Given the description of an element on the screen output the (x, y) to click on. 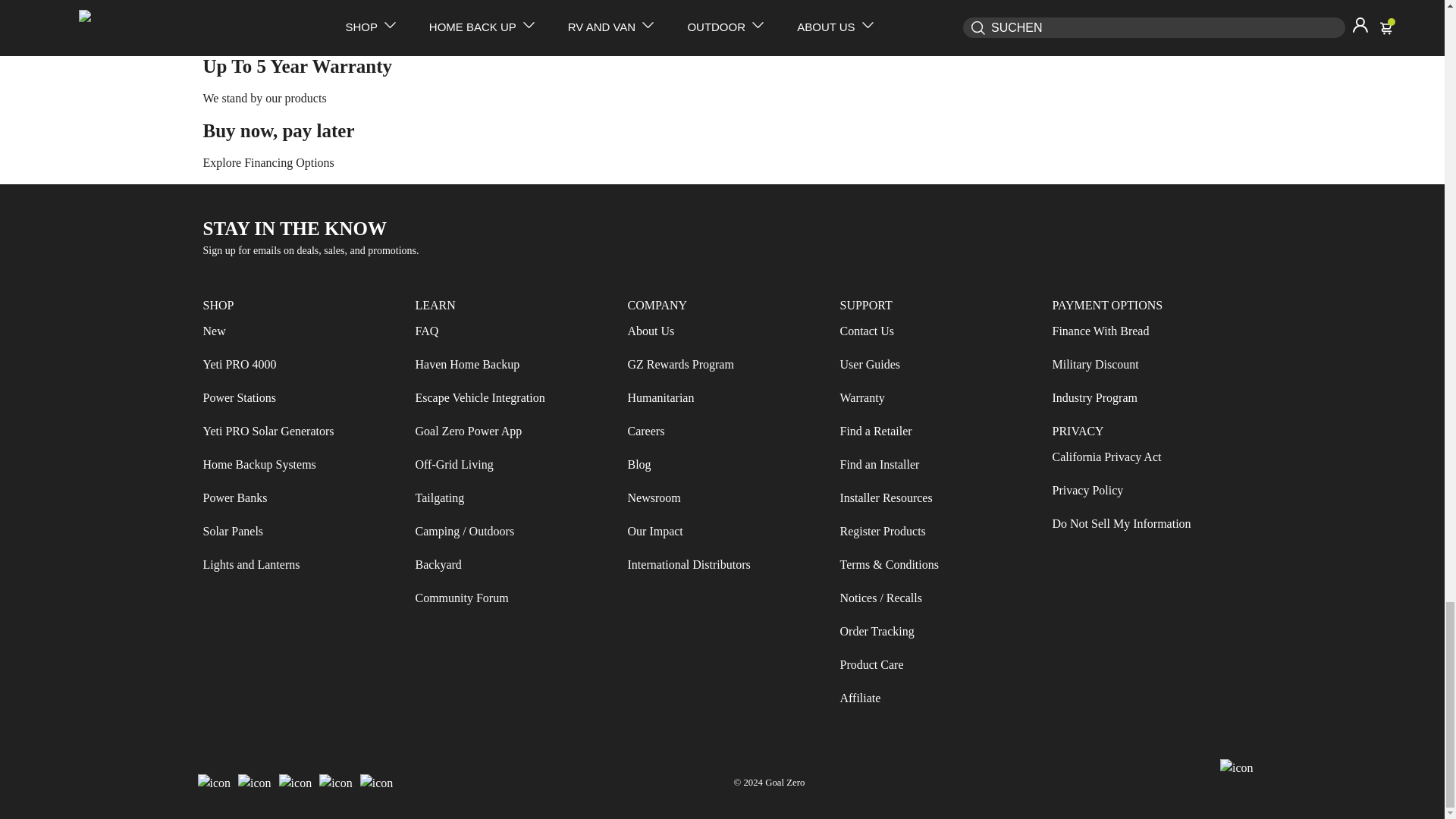
Goal Zero auf Pinterest (377, 782)
Goal Zero auf Facebook (213, 782)
Goal Zero auf Instagram (254, 782)
Goal Zero auf YouTube (336, 782)
Goal Zero auf Twitter (295, 782)
